Given the description of an element on the screen output the (x, y) to click on. 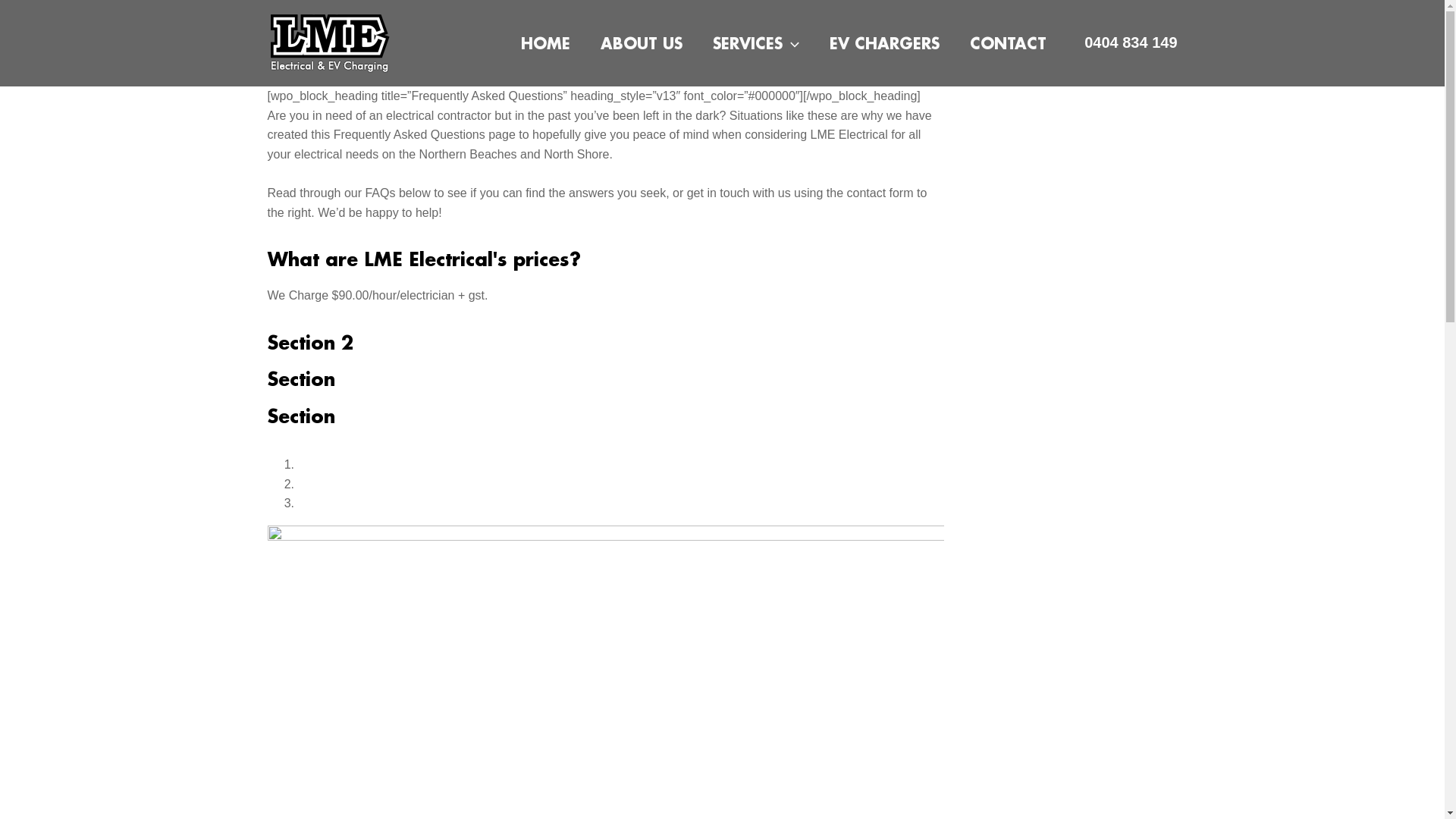
CONTACT Element type: text (1007, 42)
Section Element type: text (300, 415)
Section Element type: text (300, 378)
Section 2 Element type: text (309, 342)
What are LME Electrical's prices? Element type: text (423, 258)
SERVICES Element type: text (755, 42)
EV CHARGERS Element type: text (884, 42)
HOME Element type: text (545, 42)
ABOUT US Element type: text (641, 42)
0404 834 149 Element type: text (1126, 42)
